Given the description of an element on the screen output the (x, y) to click on. 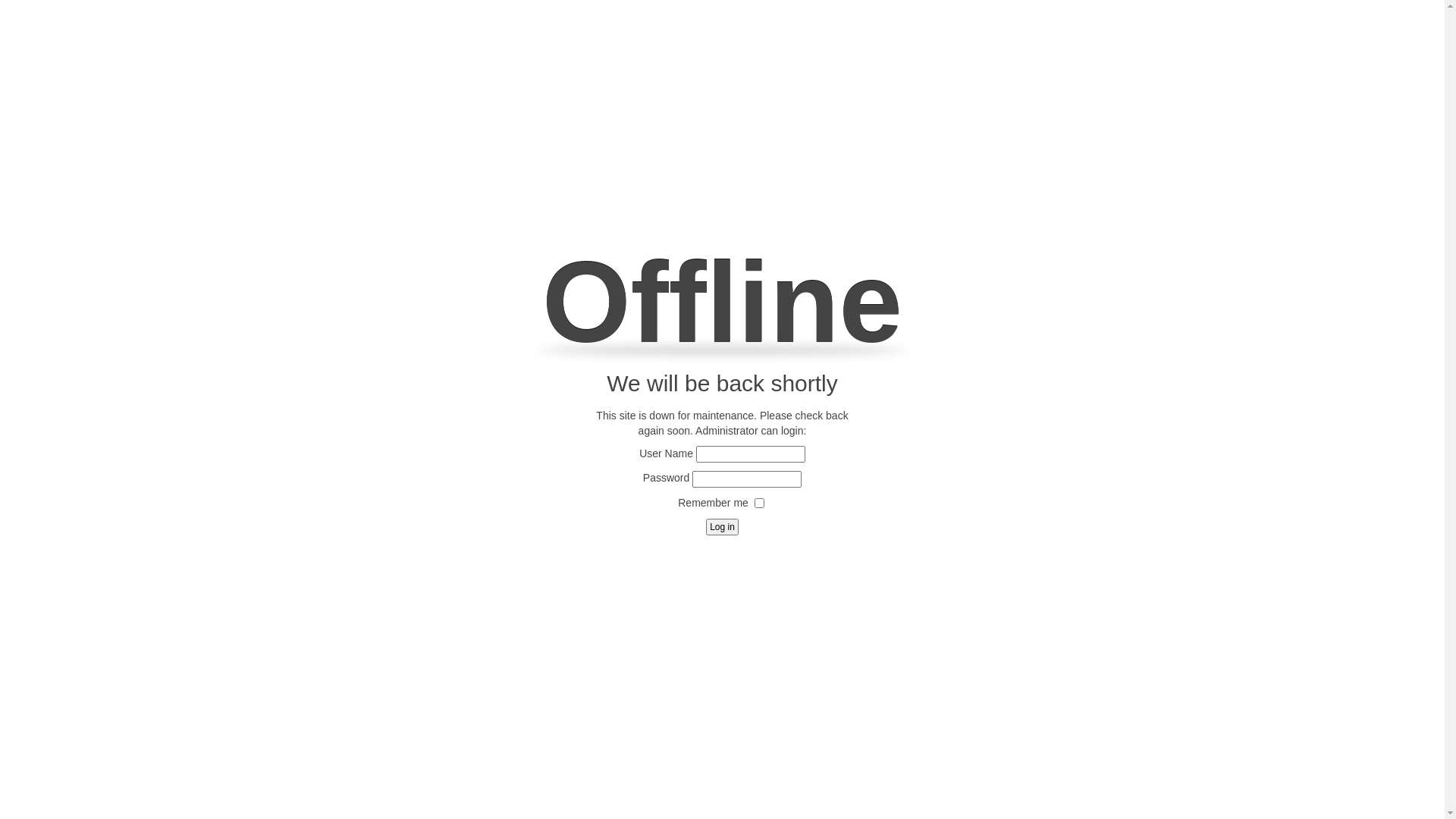
Log in Element type: text (722, 526)
